Given the description of an element on the screen output the (x, y) to click on. 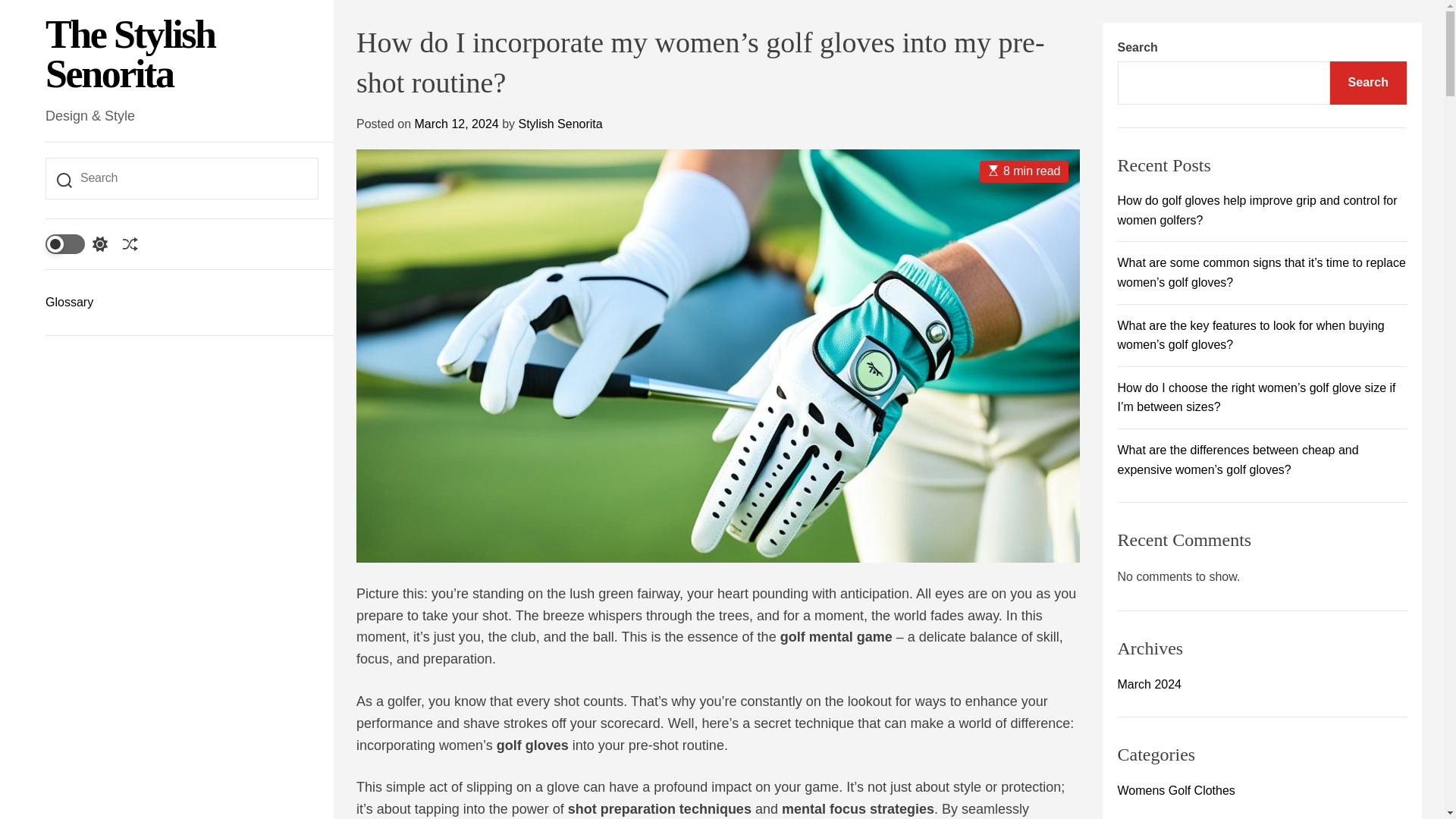
Shuffle (130, 243)
The Stylish Senorita (181, 54)
March 12, 2024 (455, 123)
Stylish Senorita (560, 123)
Search (1368, 82)
Glossary (181, 302)
Switch color mode (76, 243)
